Given the description of an element on the screen output the (x, y) to click on. 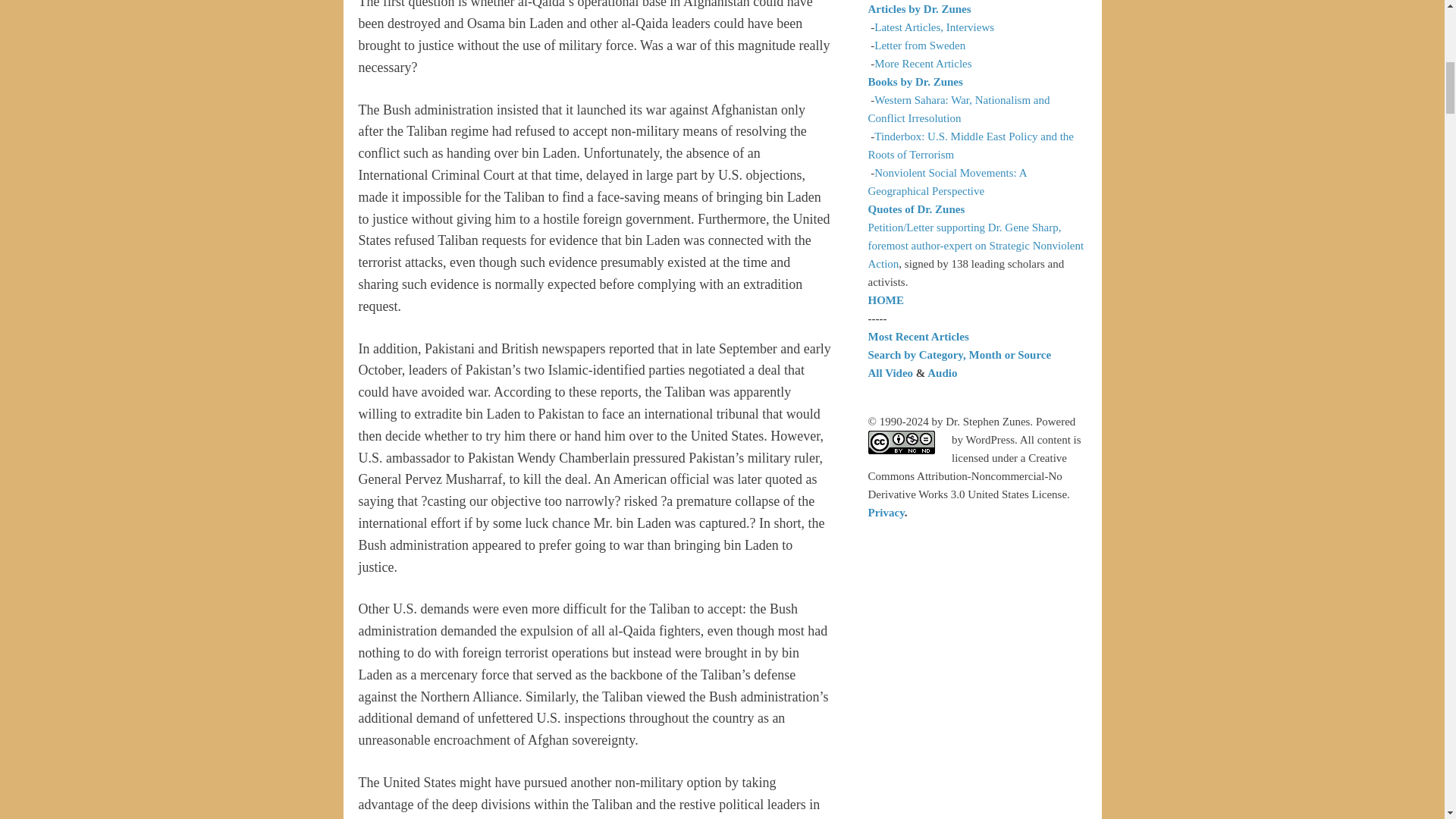
Articles by Dr. Zunes (919, 9)
Latest Articles, Interviews (934, 27)
